Given the description of an element on the screen output the (x, y) to click on. 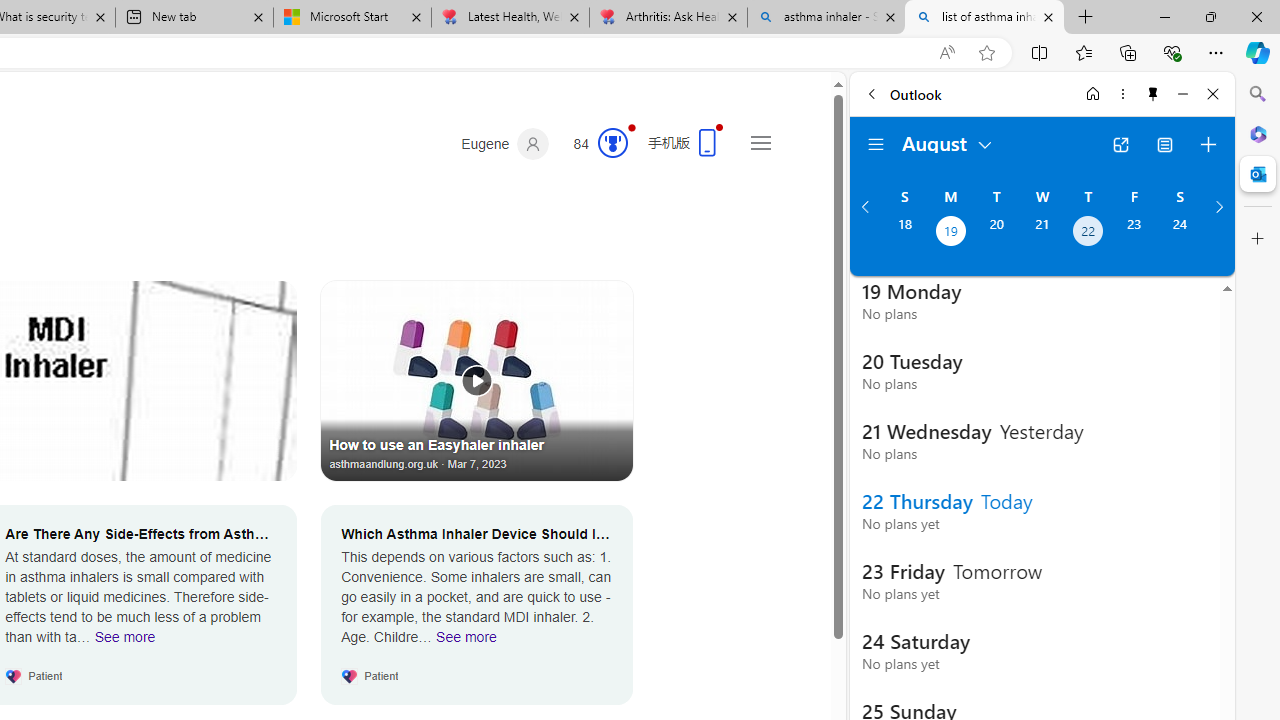
Folder navigation (876, 144)
Open in new tab (1120, 144)
AutomationID: serp_medal_svg (612, 142)
Settings and quick links (760, 142)
Thursday, August 22, 2024. Today.  (1088, 233)
